Given the description of an element on the screen output the (x, y) to click on. 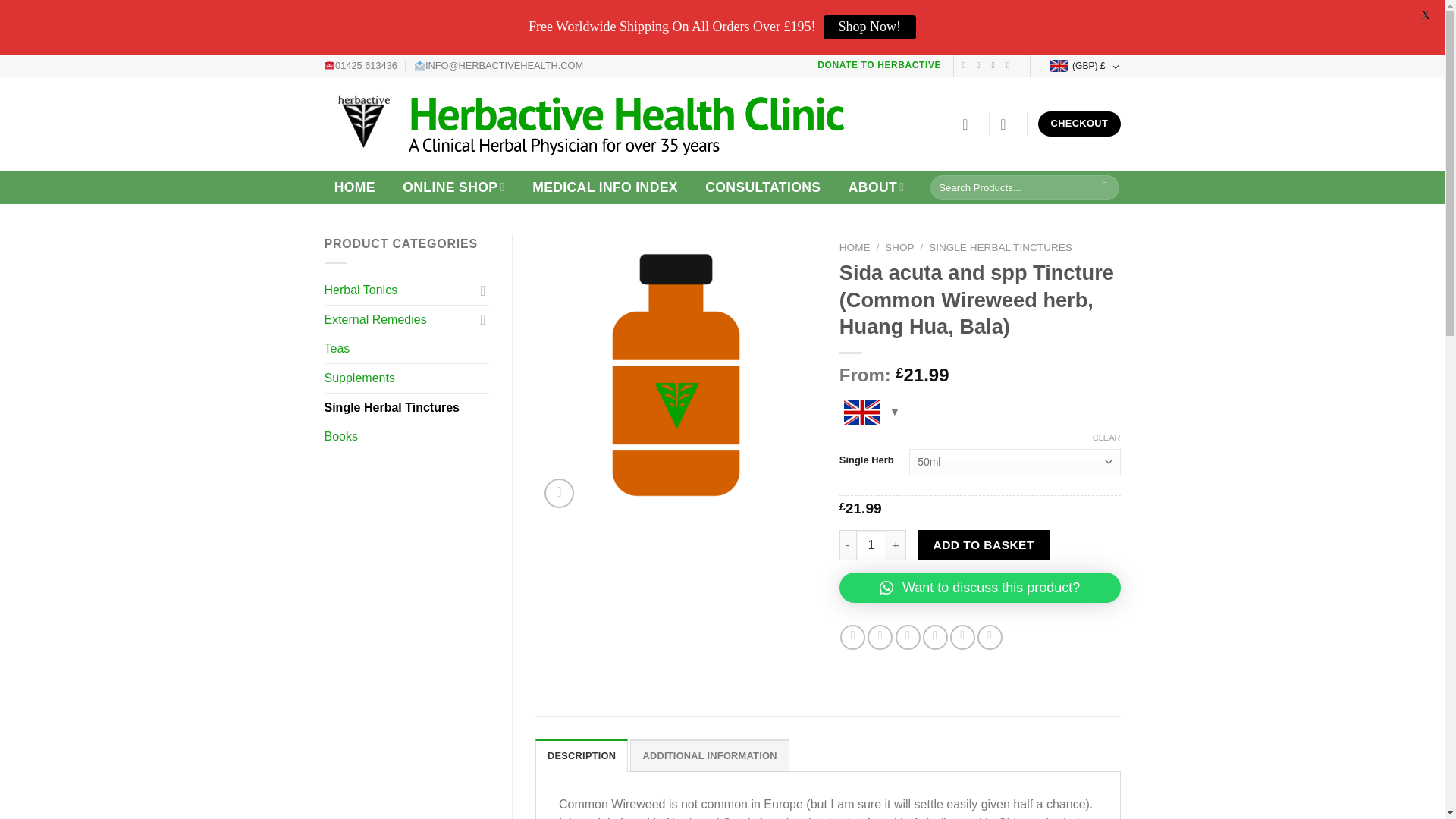
CHECKOUT (1078, 123)
Zoom (558, 492)
Tinctures-Category (675, 374)
MEDICAL INFO INDEX (604, 186)
CONSULTATIONS (763, 186)
ONLINE SHOP (454, 186)
1 (871, 544)
Share on Facebook (852, 637)
Email to a Friend (907, 637)
HOME (354, 186)
Share on Twitter (879, 637)
DONATE TO HERBACTIVE (878, 64)
01425 613436 (360, 65)
Please select your currency (869, 417)
